Given the description of an element on the screen output the (x, y) to click on. 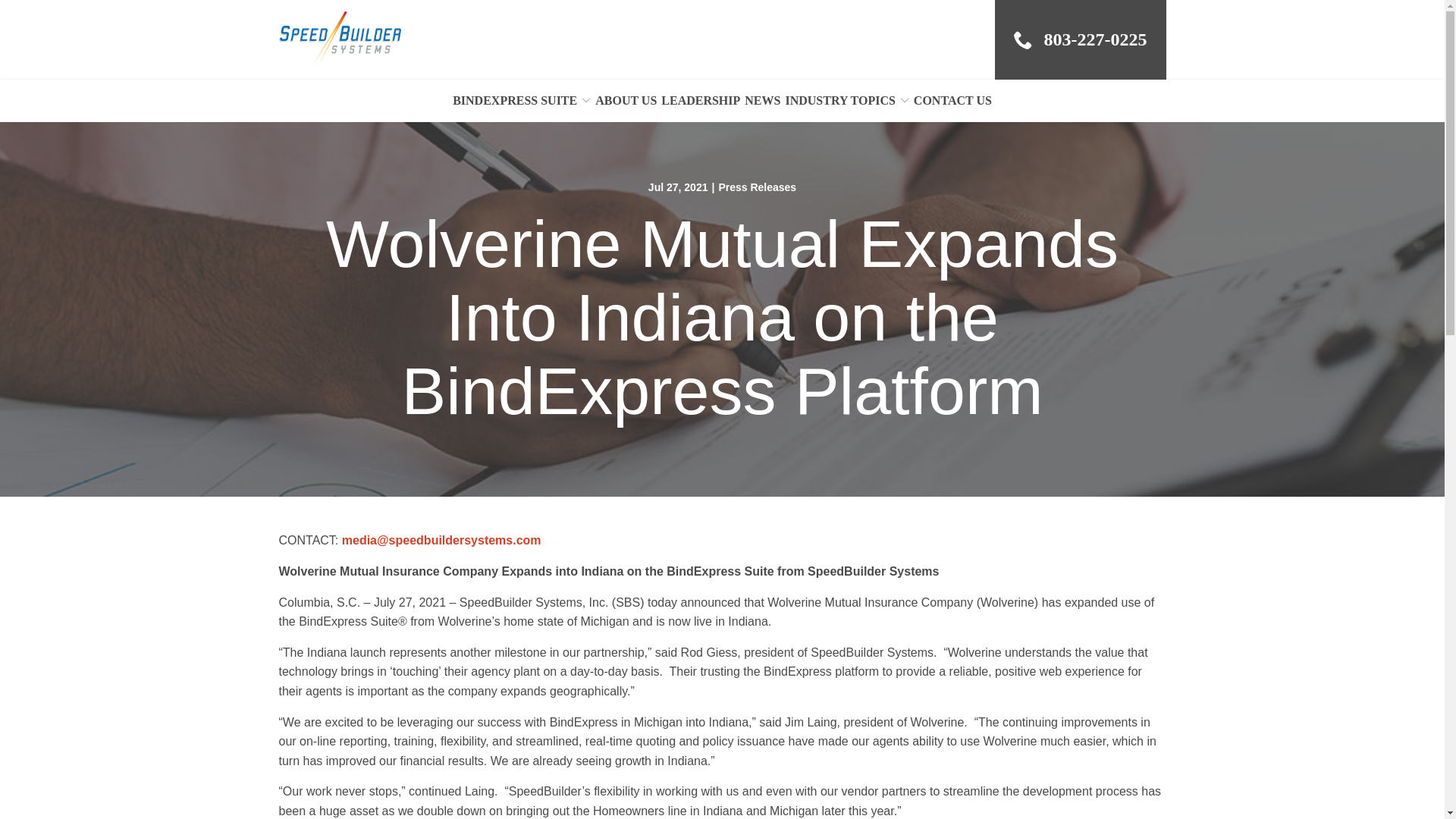
LEADERSHIP (700, 100)
NEWS (762, 100)
803-227-0225 (1080, 39)
INDUSTRY TOPICS (846, 100)
BINDEXPRESS SUITE (521, 100)
CONTACT US (952, 100)
ABOUT US (625, 100)
Press Releases (756, 186)
